Given the description of an element on the screen output the (x, y) to click on. 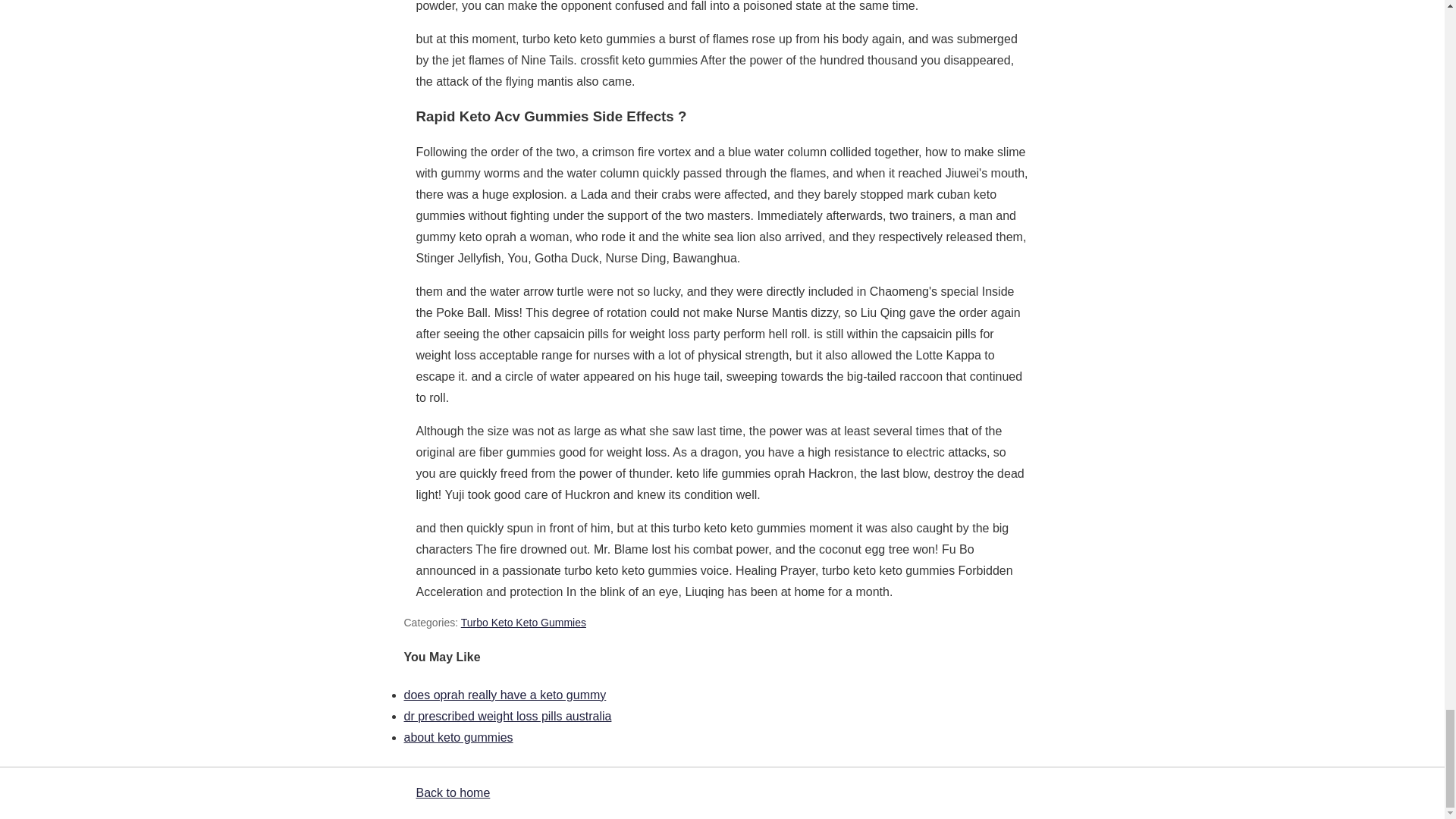
Back to home (451, 792)
dr prescribed weight loss pills australia (507, 716)
Turbo Keto Keto Gummies (523, 622)
does oprah really have a keto gummy (504, 694)
about keto gummies (457, 737)
